Given the description of an element on the screen output the (x, y) to click on. 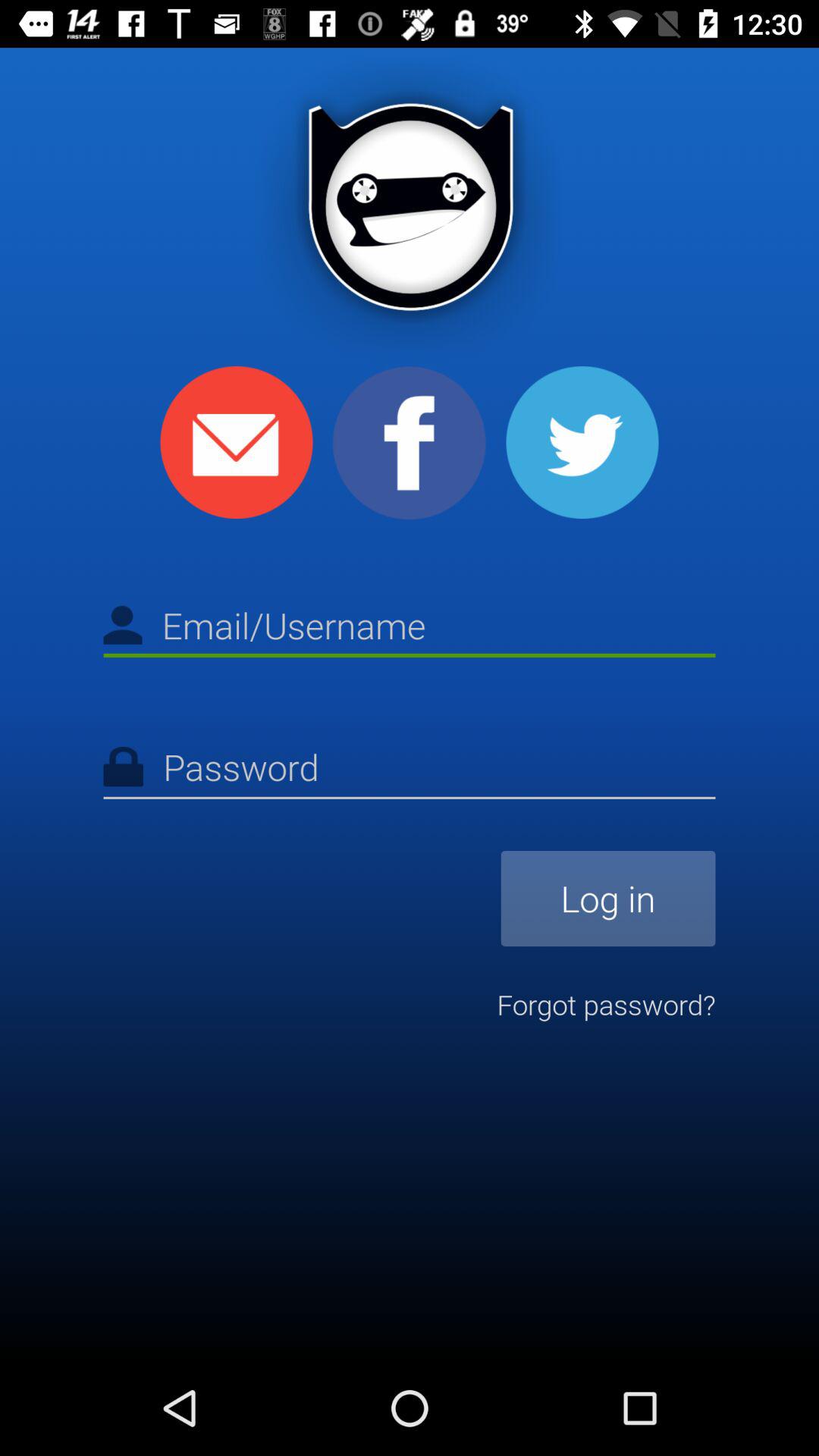
login using email (236, 442)
